Given the description of an element on the screen output the (x, y) to click on. 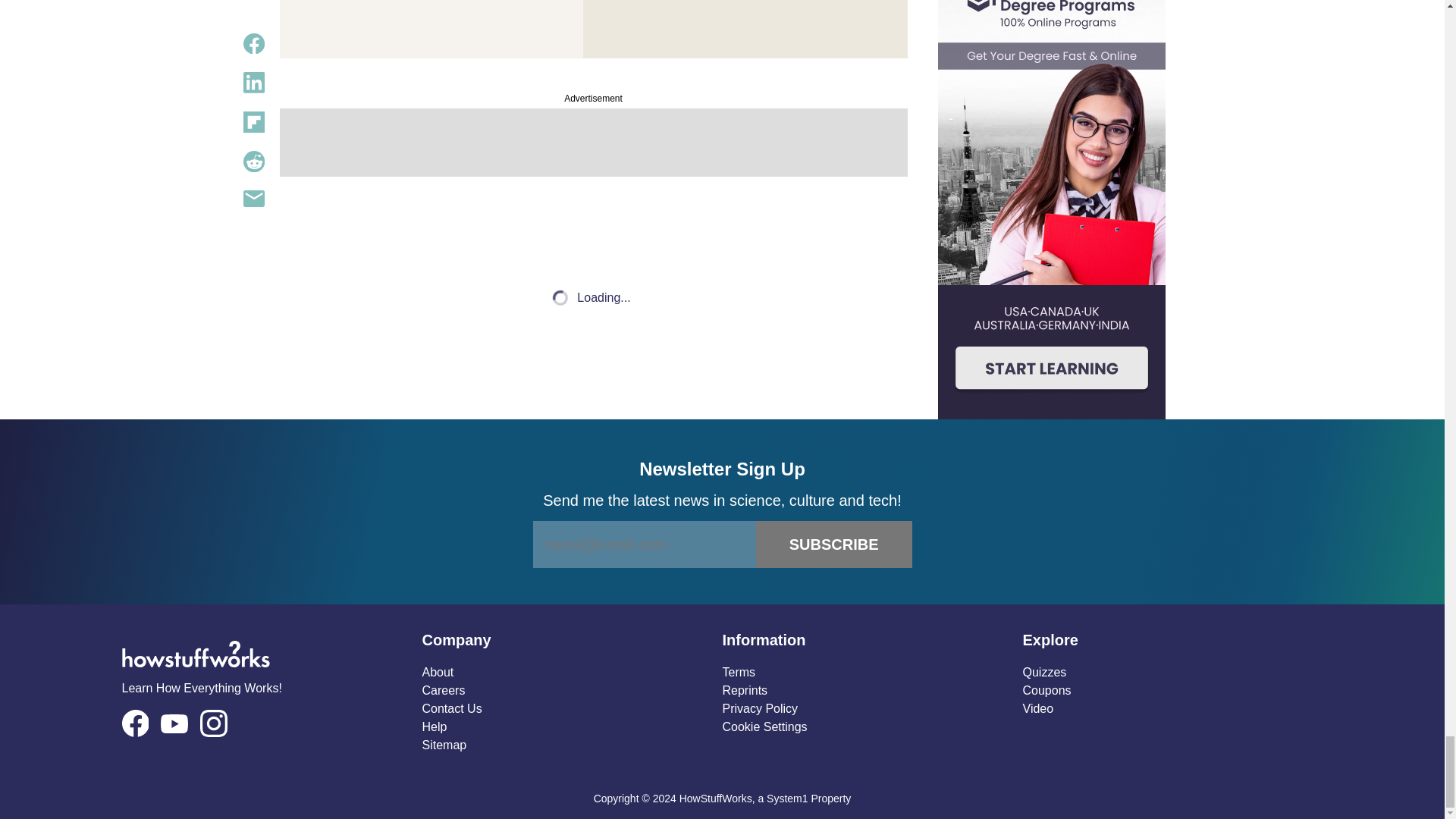
Visit HowStuffWorks on Facebook (134, 723)
Subscribe (833, 544)
Visit HowStuffWorks on Instagram (213, 723)
Visit HowStuffWorks on YouTube (173, 723)
